Given the description of an element on the screen output the (x, y) to click on. 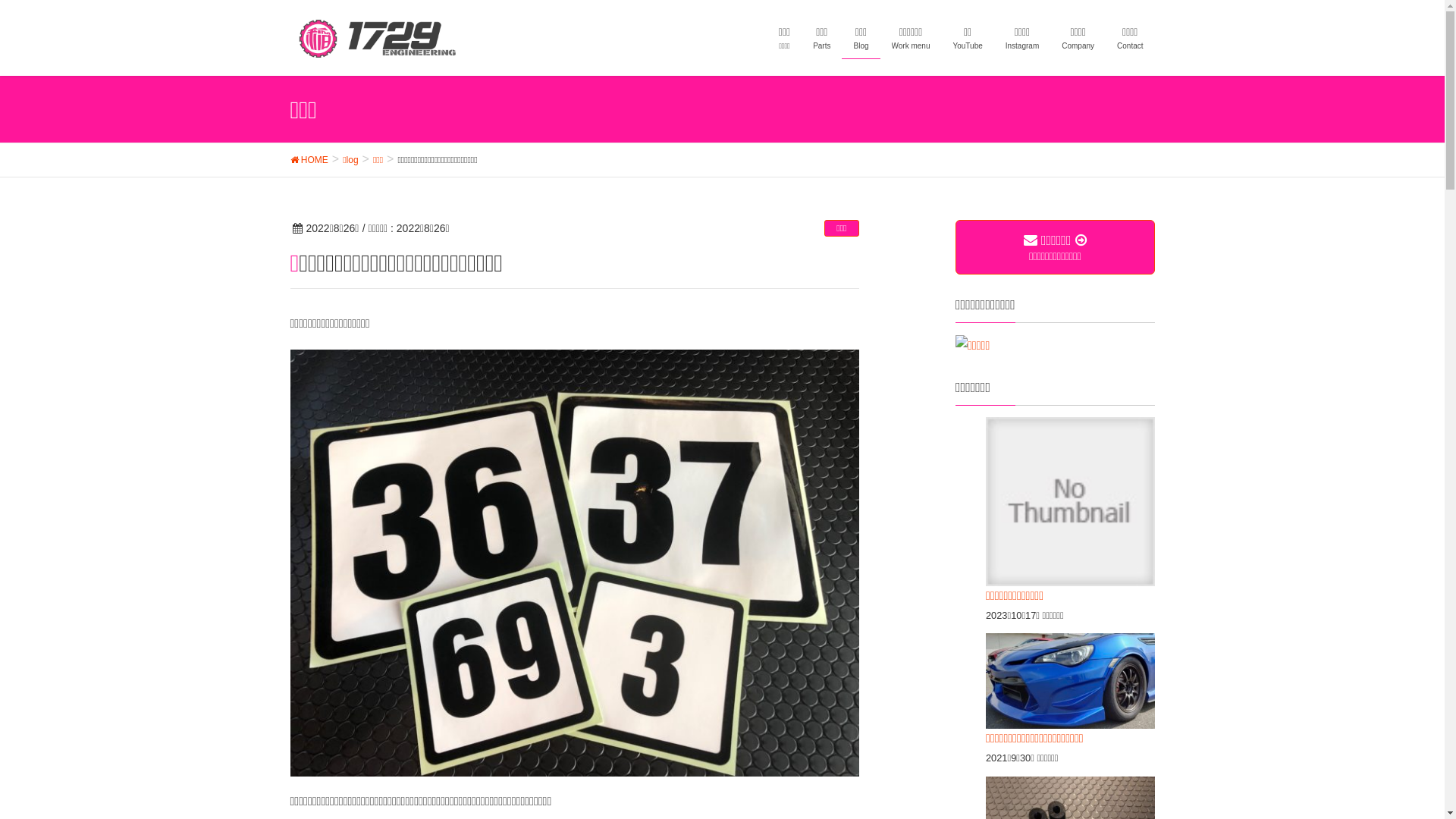
HOME Element type: text (308, 158)
